Given the description of an element on the screen output the (x, y) to click on. 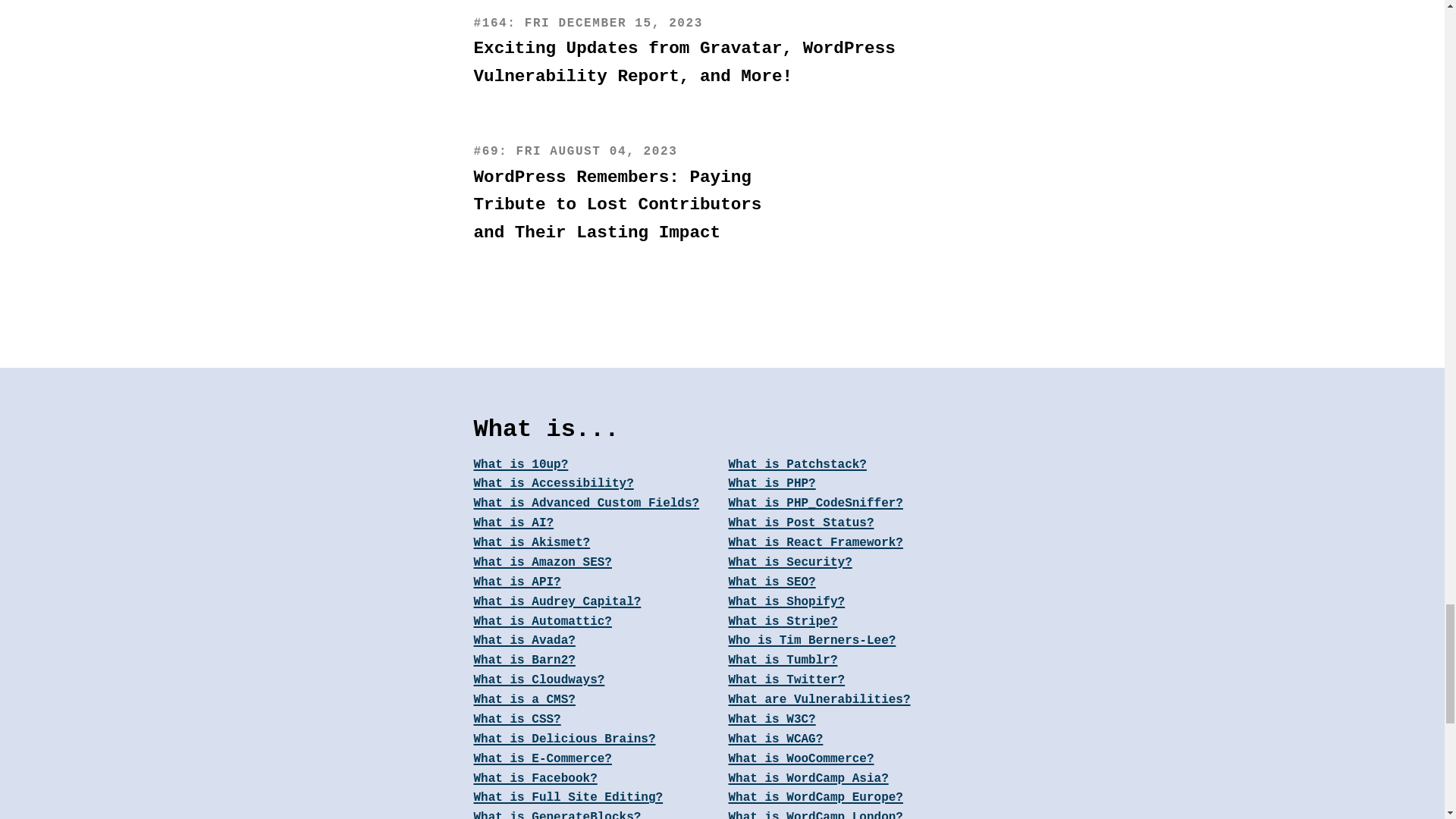
What is Accessibility? (594, 484)
What is 10up? (594, 465)
